Given the description of an element on the screen output the (x, y) to click on. 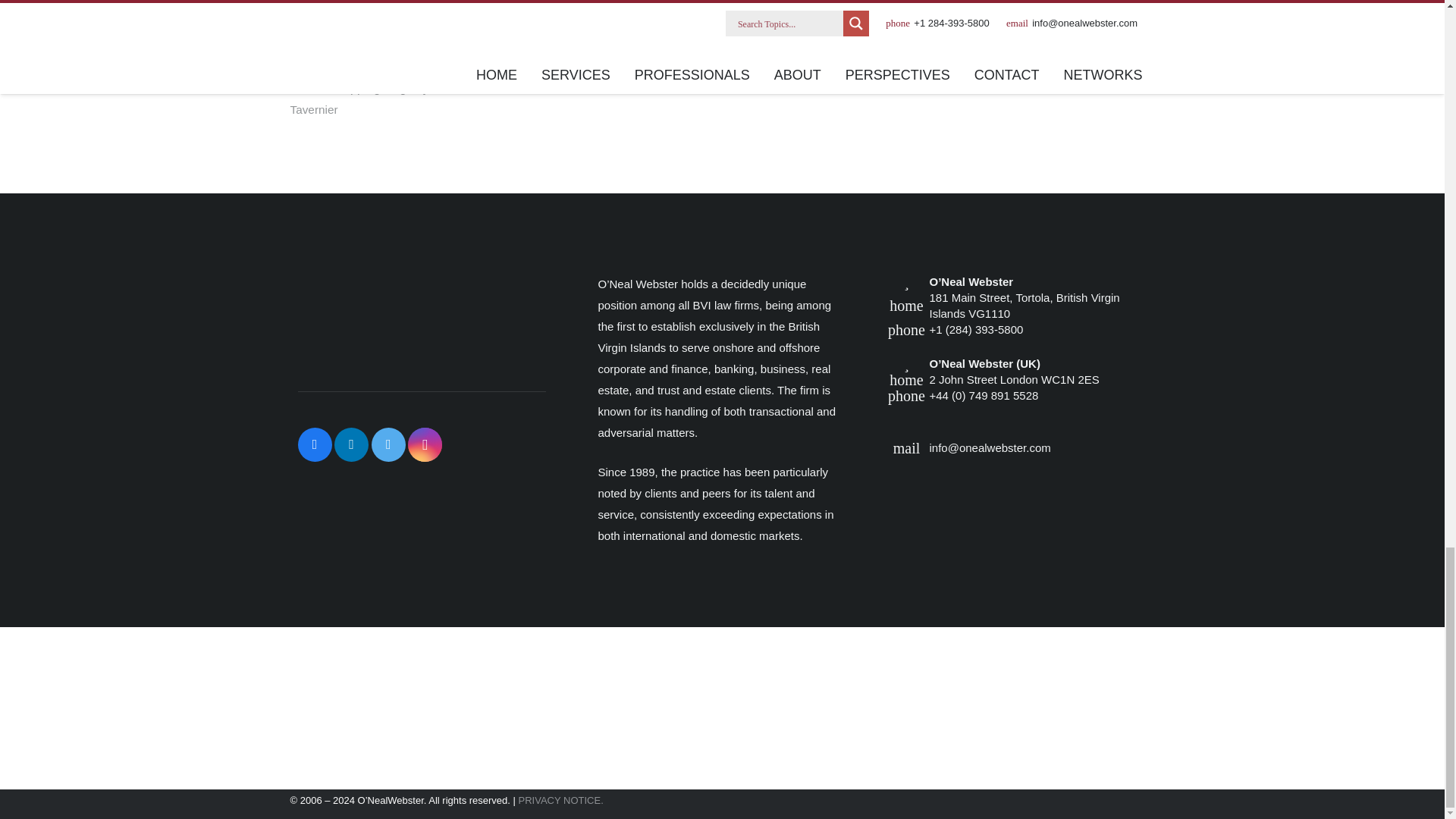
Twitter (388, 444)
Instagram (424, 444)
Facebook (314, 444)
LinkedIn (351, 444)
